Given the description of an element on the screen output the (x, y) to click on. 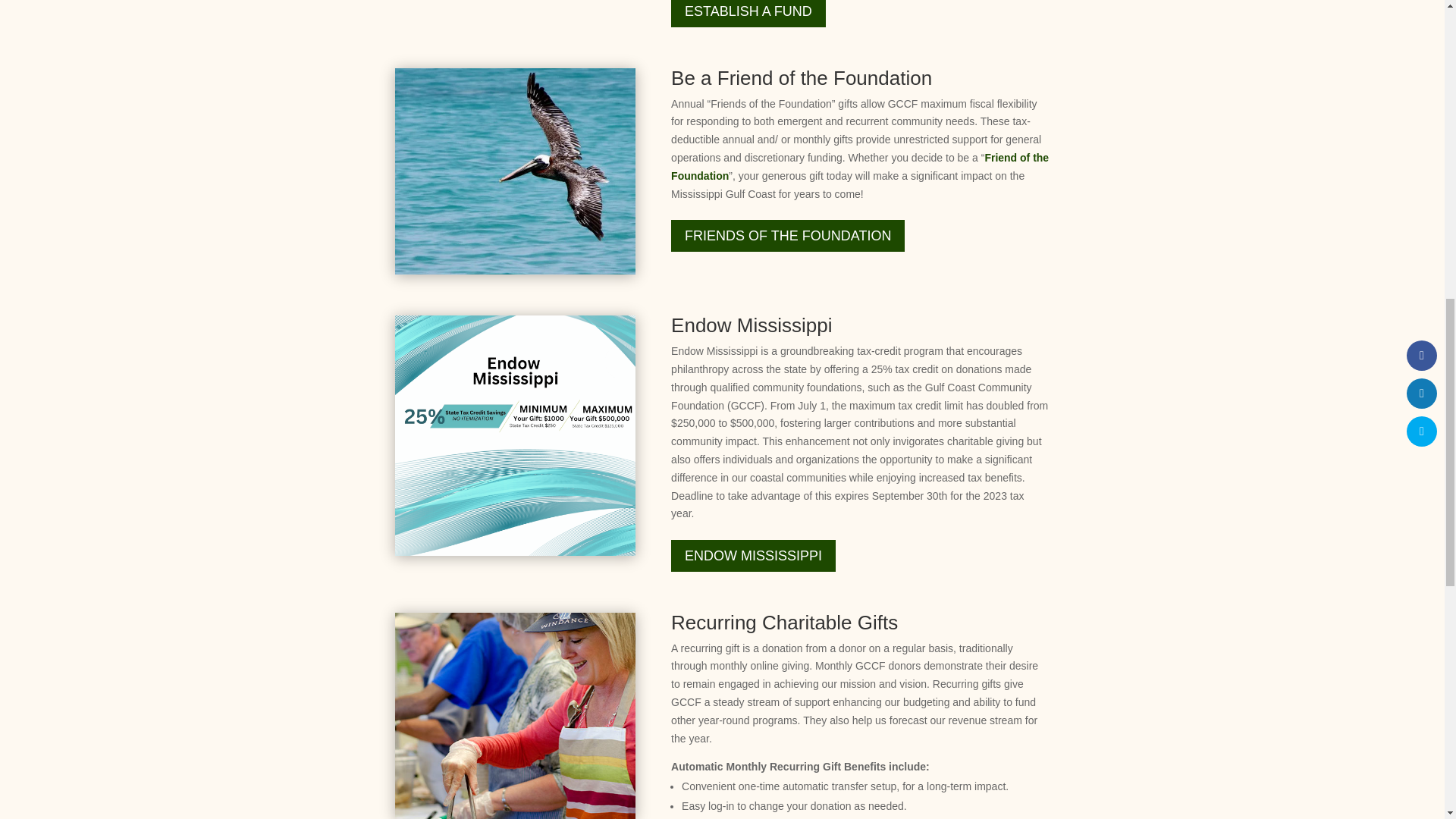
pelican (514, 171)
Friend of the Foundation (859, 166)
Endow MS Thunbnail (514, 435)
ENDOW MISSISSIPPI (753, 554)
FRIENDS OF THE FOUNDATION (787, 235)
serving-food (514, 715)
ESTABLISH A FUND (748, 13)
